Given the description of an element on the screen output the (x, y) to click on. 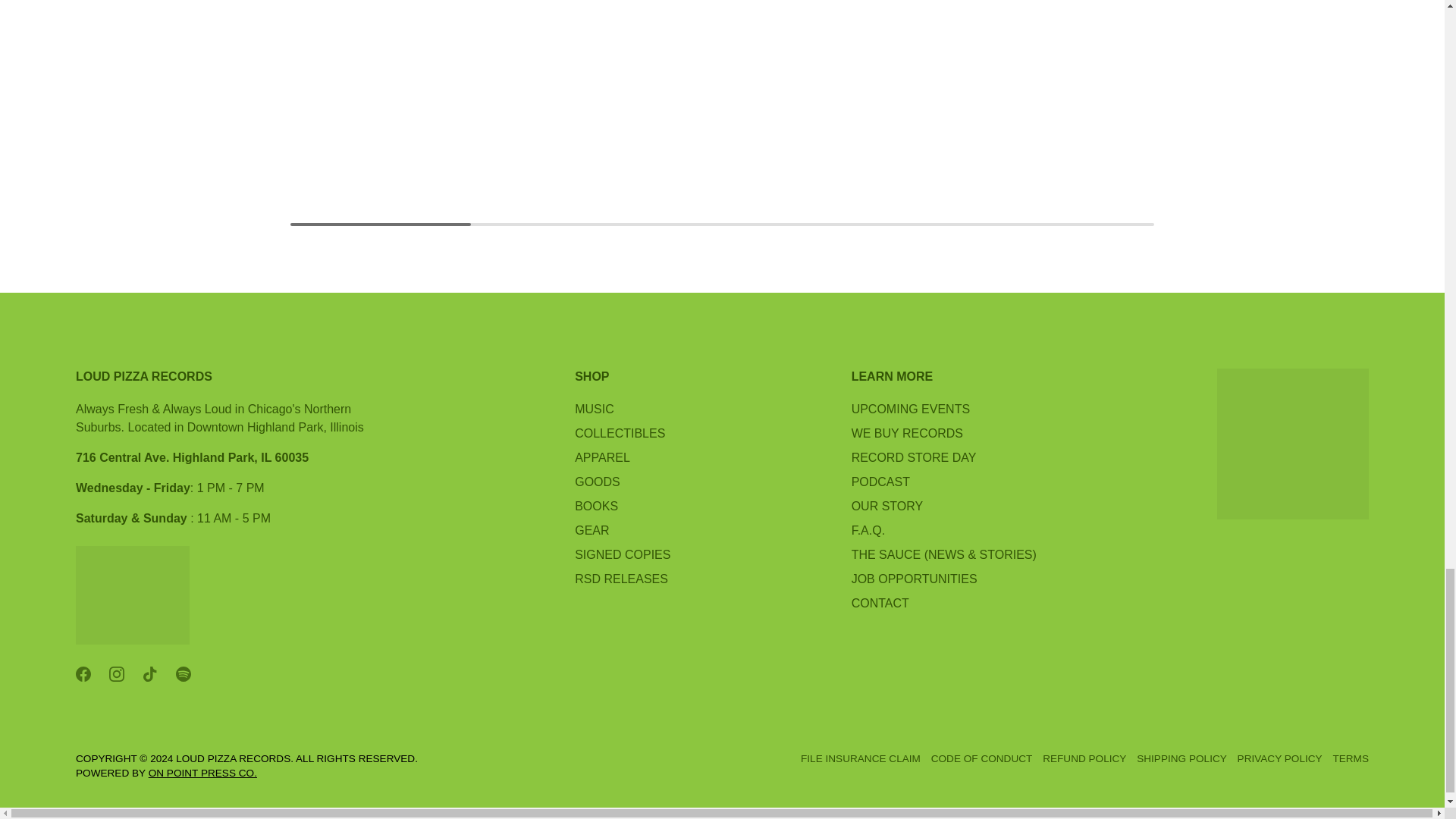
Instagram (116, 673)
